Given the description of an element on the screen output the (x, y) to click on. 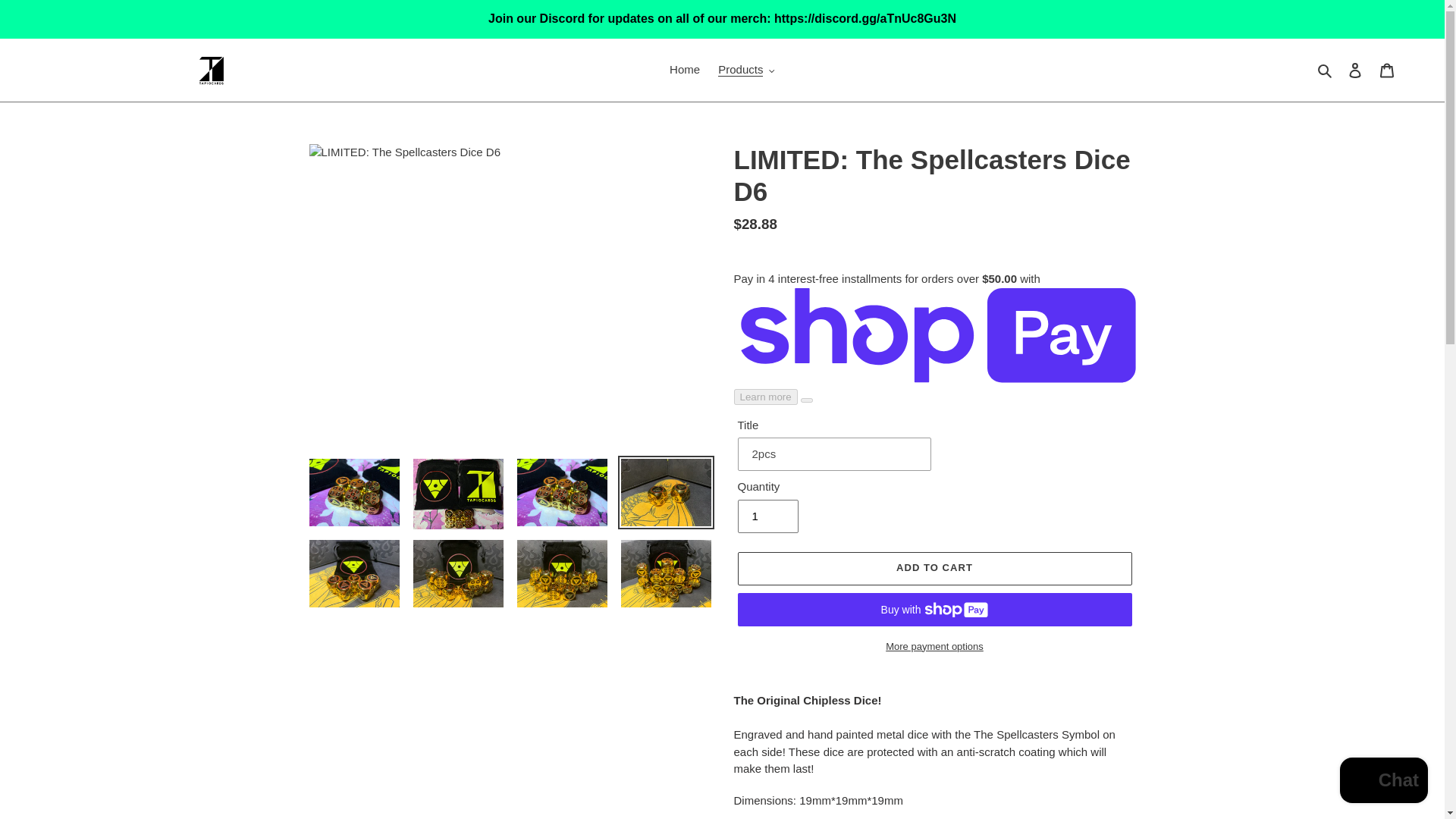
Shopify online store chat (1383, 781)
Search (1326, 69)
Products (746, 69)
Home (684, 69)
Cart (1387, 70)
1 (766, 516)
Log in (1355, 70)
